Given the description of an element on the screen output the (x, y) to click on. 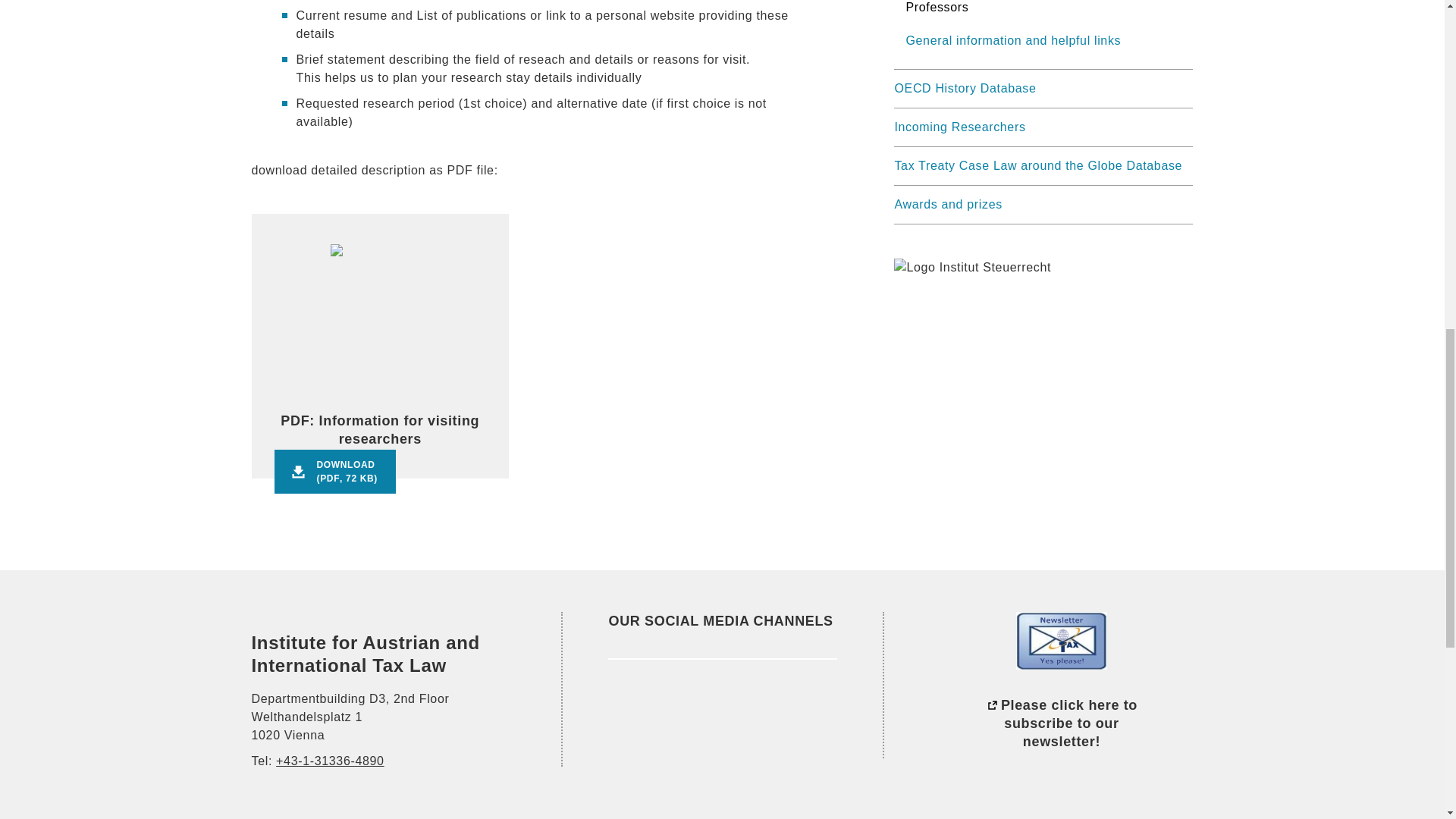
LinkedIn (629, 706)
Logo: Newsletter Tax Law (1061, 640)
